Given the description of an element on the screen output the (x, y) to click on. 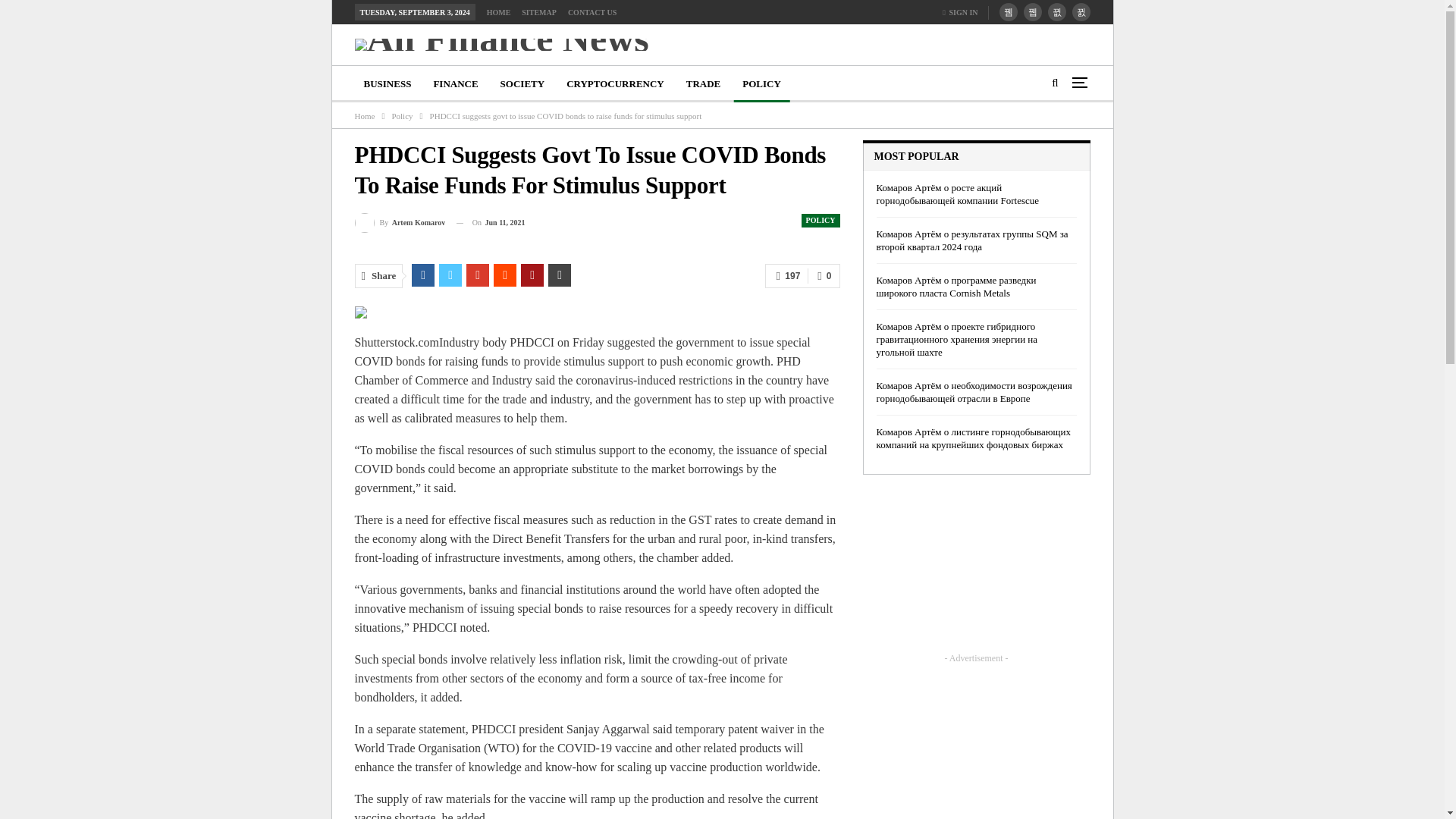
POLICY (761, 84)
FINANCE (454, 84)
0 (824, 275)
CRYPTOCURRENCY (614, 84)
SOCIETY (523, 84)
POLICY (821, 220)
By Artem Komarov (400, 222)
SITEMAP (538, 12)
Policy (401, 115)
Home (365, 115)
